Given the description of an element on the screen output the (x, y) to click on. 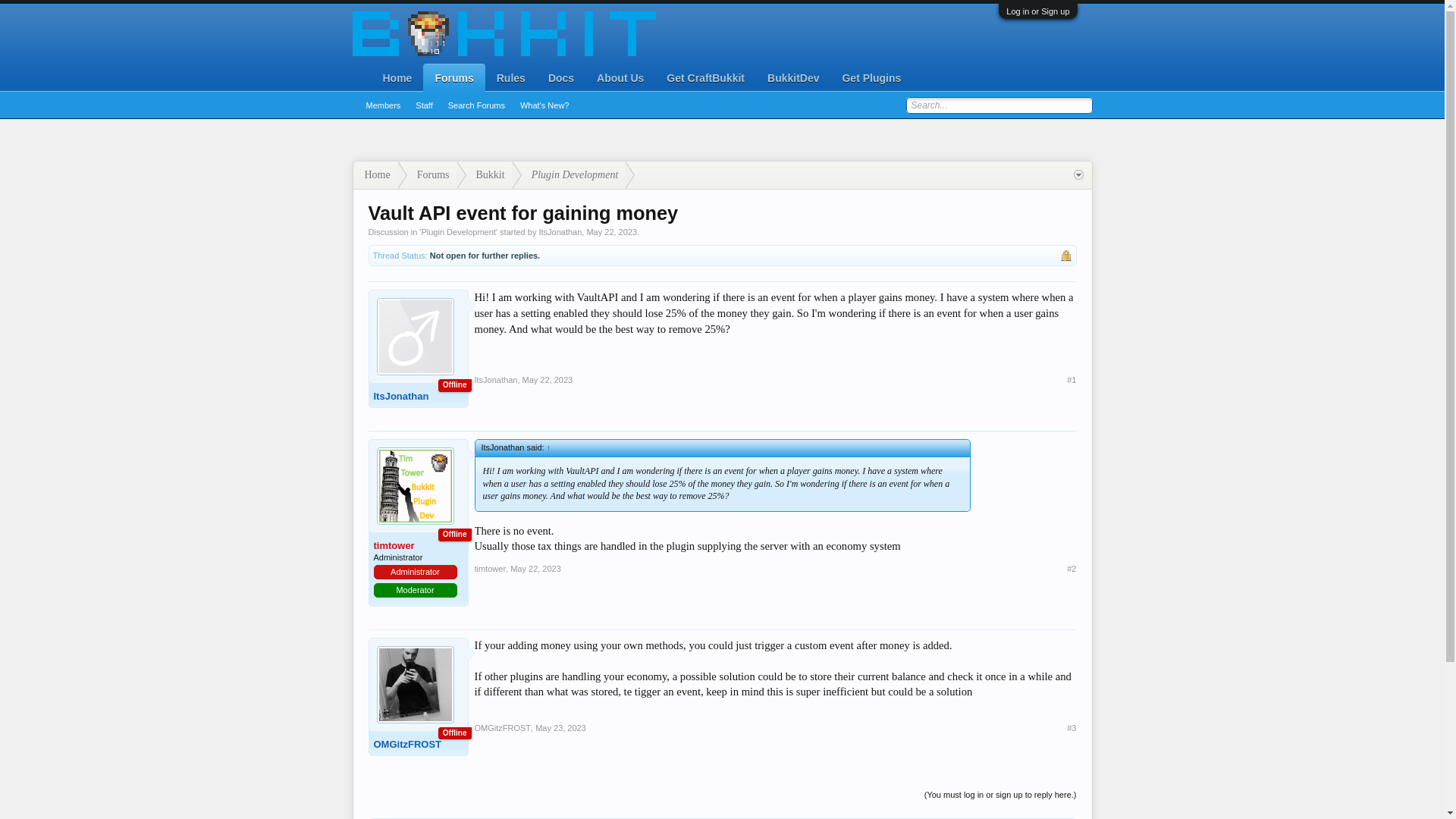
ItsJonathan (496, 379)
May 22, 2023 (535, 568)
Open quick navigation (1078, 174)
Permalink (1071, 568)
May 23, 2023 (560, 727)
Forums (453, 77)
ItsJonathan (559, 231)
Bukkit (484, 175)
May 22, 2023 (611, 231)
timtower (414, 544)
Permalink (1071, 727)
Home (375, 175)
Plugin Development (569, 175)
Members (382, 105)
May 22, 2023 at 8:06 PM (611, 231)
